Given the description of an element on the screen output the (x, y) to click on. 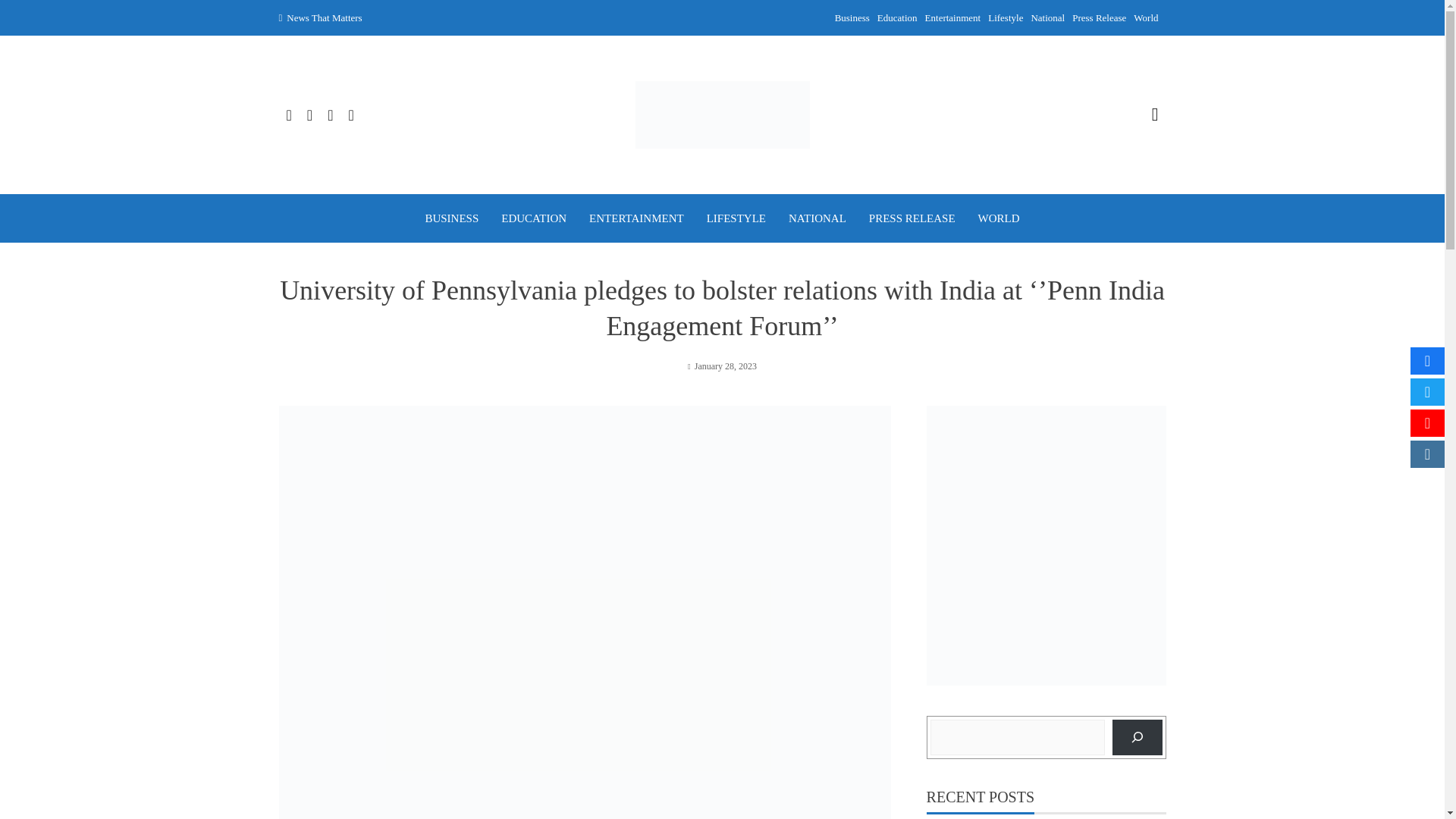
National (1047, 17)
PRESS RELEASE (912, 218)
Press Release (1098, 17)
WORLD (999, 218)
BUSINESS (452, 218)
Education (897, 17)
Business (851, 17)
Lifestyle (1005, 17)
Entertainment (952, 17)
LIFESTYLE (735, 218)
ENTERTAINMENT (636, 218)
NATIONAL (817, 218)
World (1145, 17)
EDUCATION (533, 218)
